Given the description of an element on the screen output the (x, y) to click on. 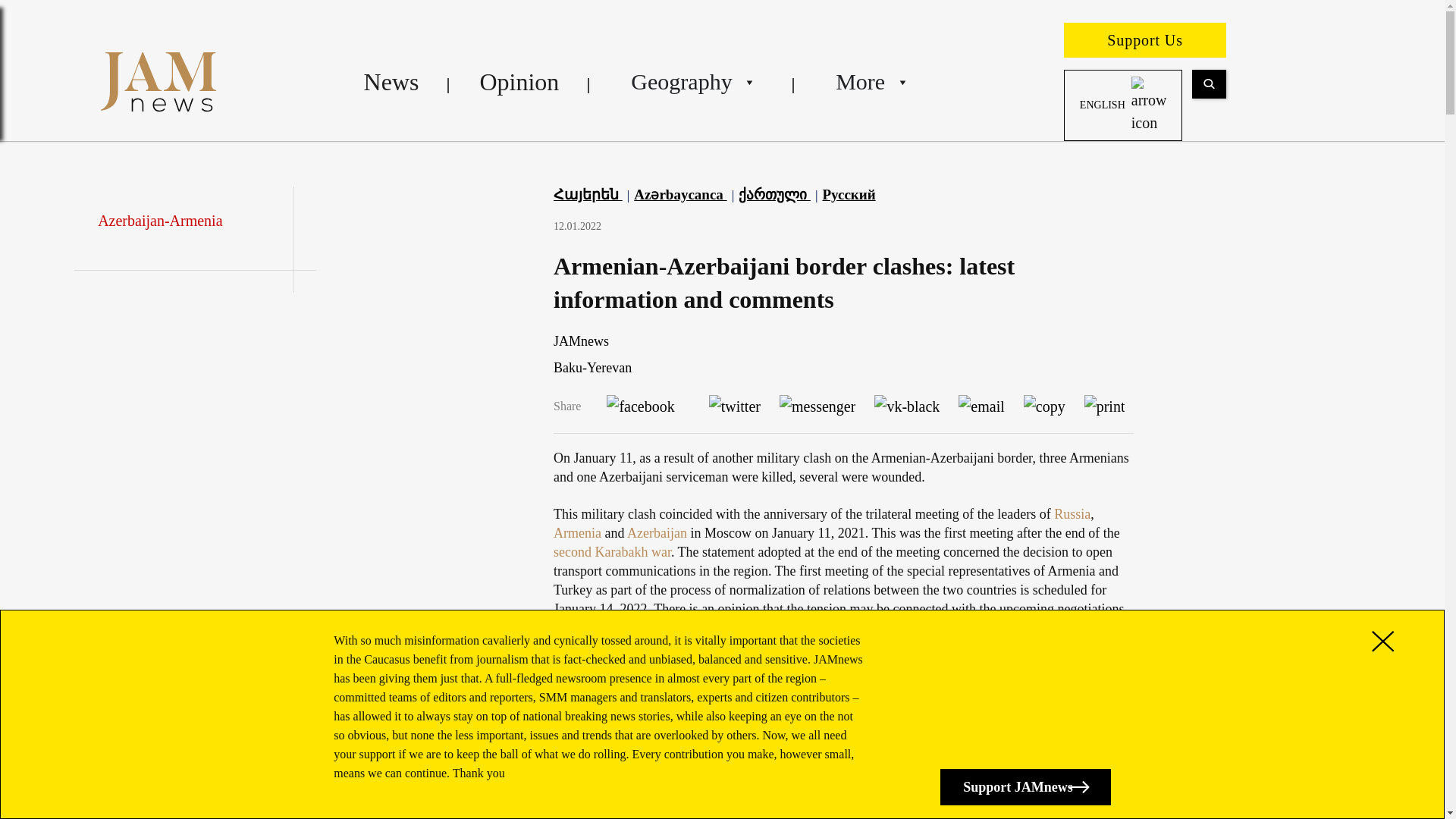
News (391, 81)
Support Us (1145, 39)
Geography (691, 81)
Opinion (518, 81)
More (869, 81)
